Given the description of an element on the screen output the (x, y) to click on. 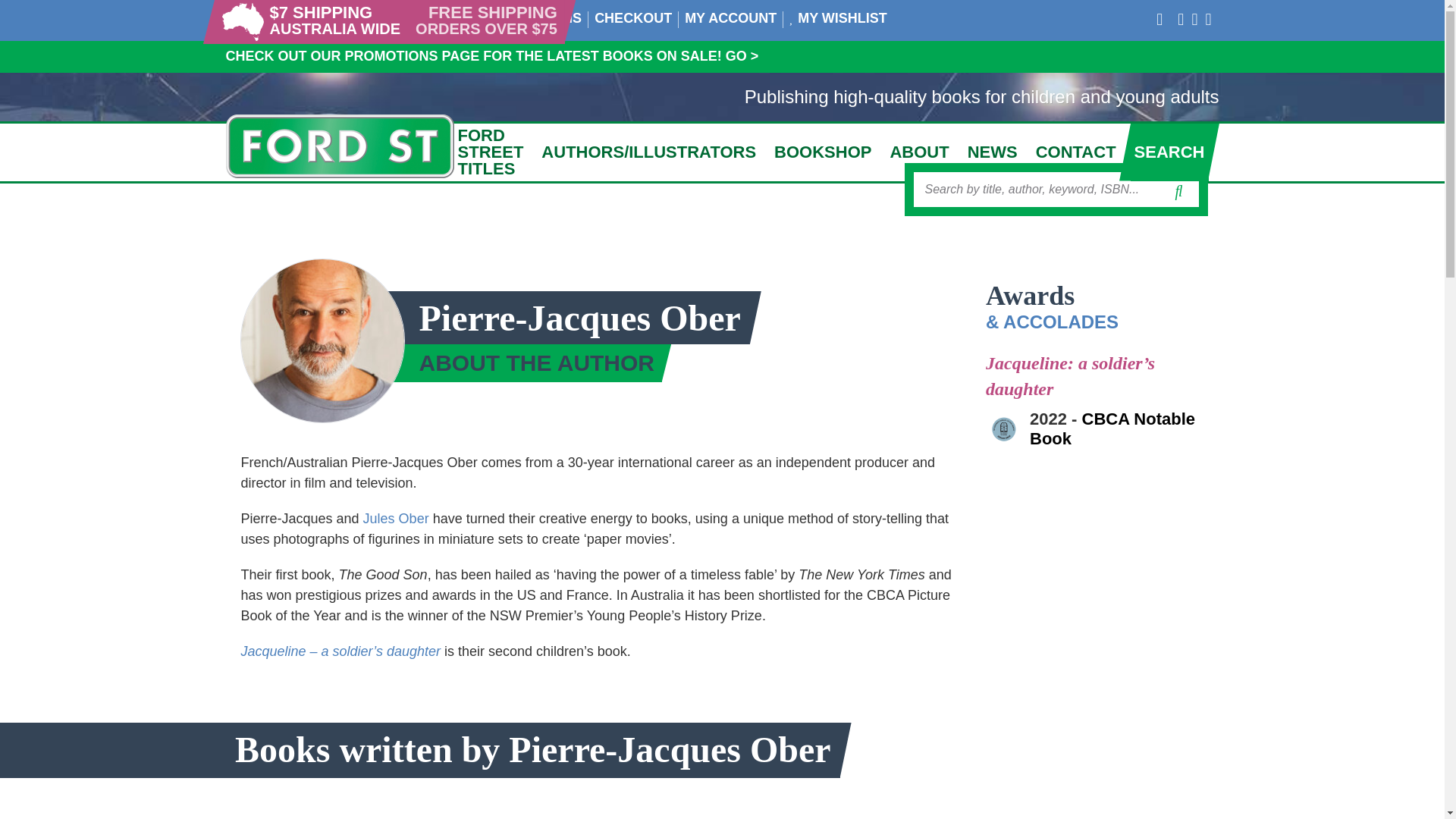
Follow Ford St Publishing on Facebook (1180, 18)
MY WISHLIST (841, 17)
Ford St Publishing (339, 146)
My Account (730, 17)
Read about the CBCA Notable Book (1112, 428)
BOOKSHOP (822, 151)
Jules Ober (395, 518)
Pierre-Jacques Ober (322, 340)
MY ACCOUNT (730, 17)
My Wishlist (841, 17)
CHECKOUT (632, 17)
0 ITEMS (554, 17)
SEARCH (1169, 151)
Follow Ford St Publishing on Twitter (1158, 18)
Checkout (632, 17)
